Given the description of an element on the screen output the (x, y) to click on. 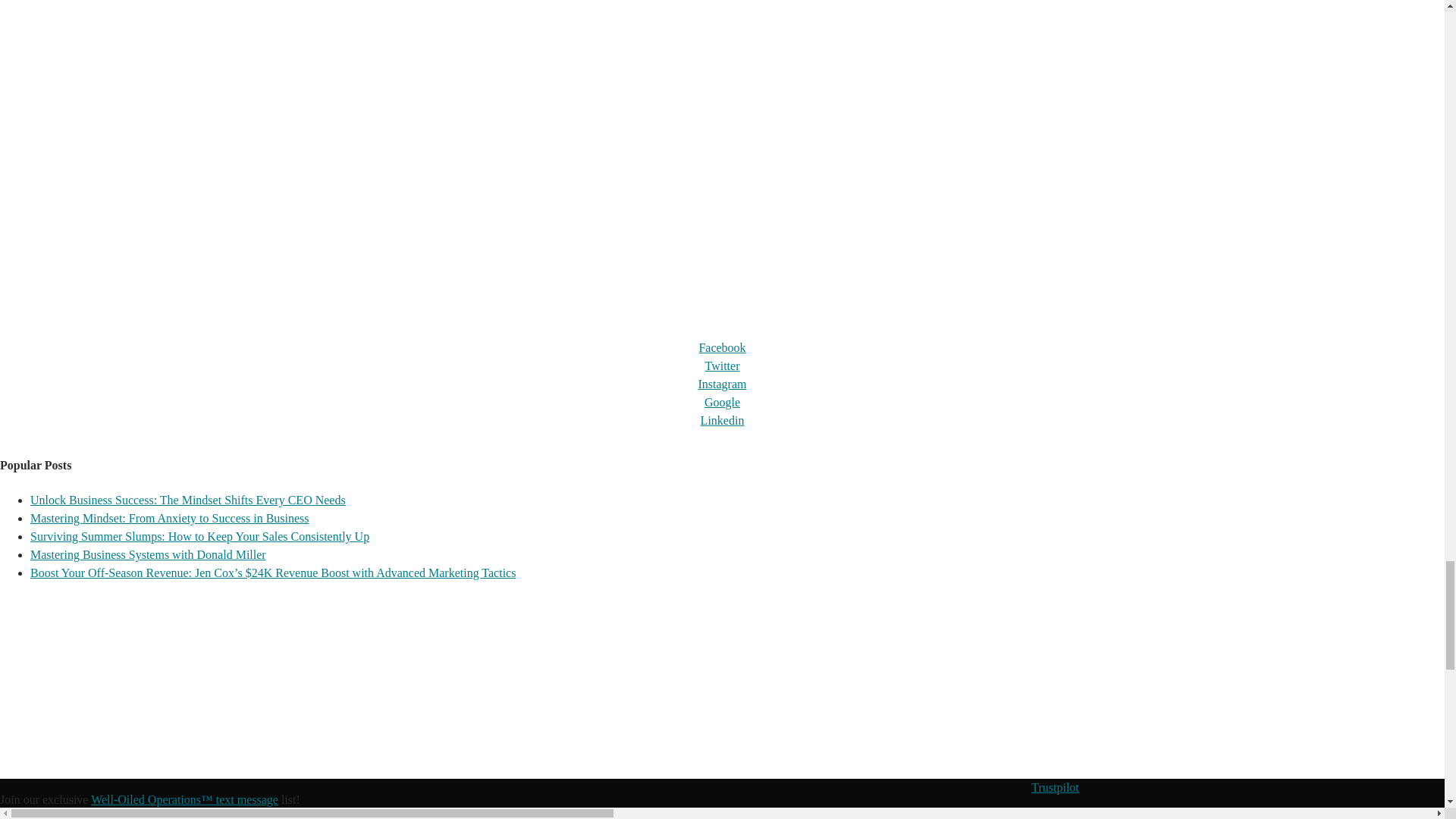
Google (721, 401)
Twitter (721, 365)
Instagram (721, 383)
Facebook (721, 347)
